Given the description of an element on the screen output the (x, y) to click on. 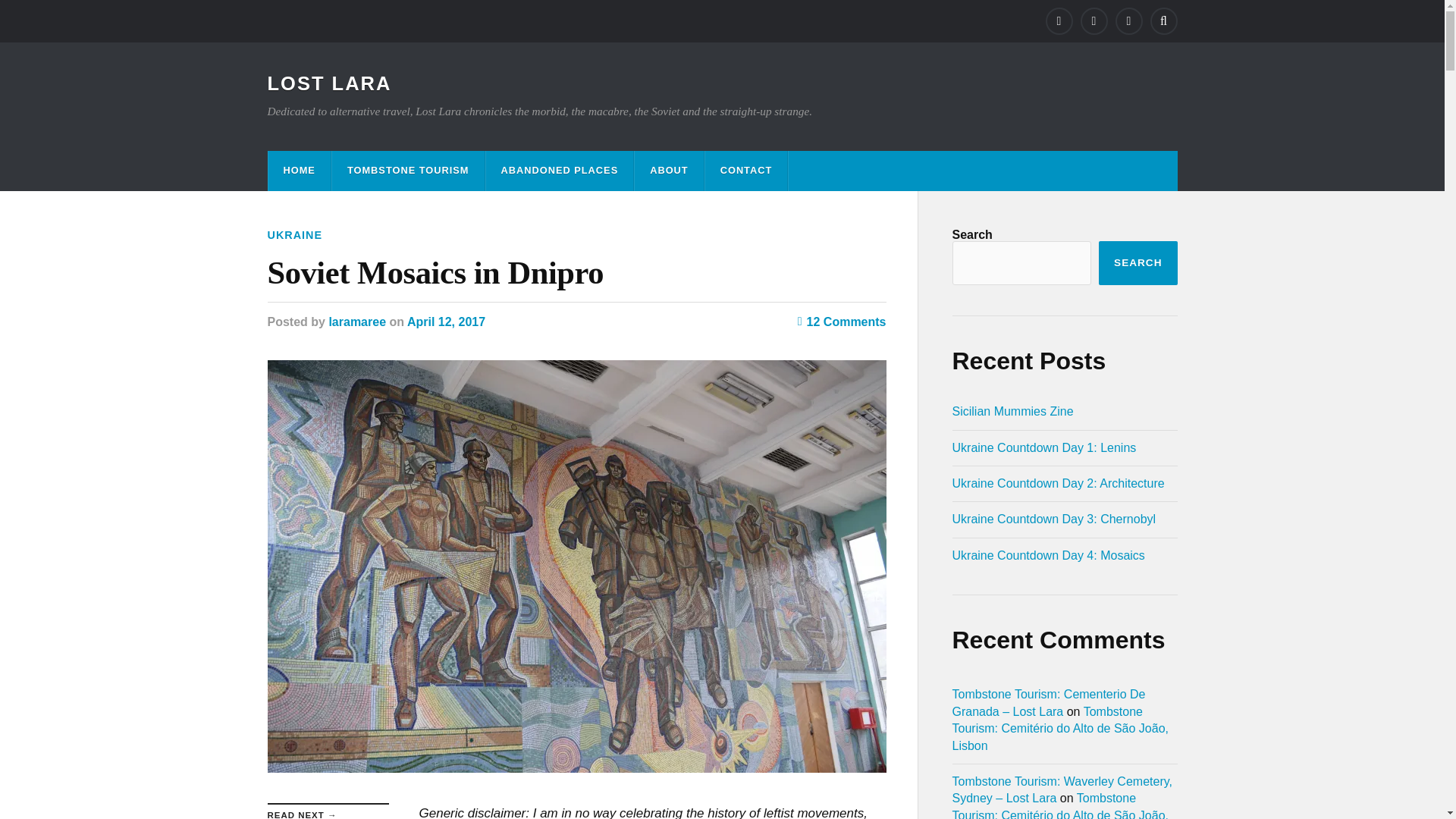
laramaree (357, 321)
April 12, 2017 (445, 321)
LOST LARA (328, 83)
ABOUT (668, 170)
CONTACT (745, 170)
UKRAINE (293, 234)
ABANDONED PLACES (559, 170)
HOME (298, 170)
12 Comments (841, 321)
TOMBSTONE TOURISM (407, 170)
